Given the description of an element on the screen output the (x, y) to click on. 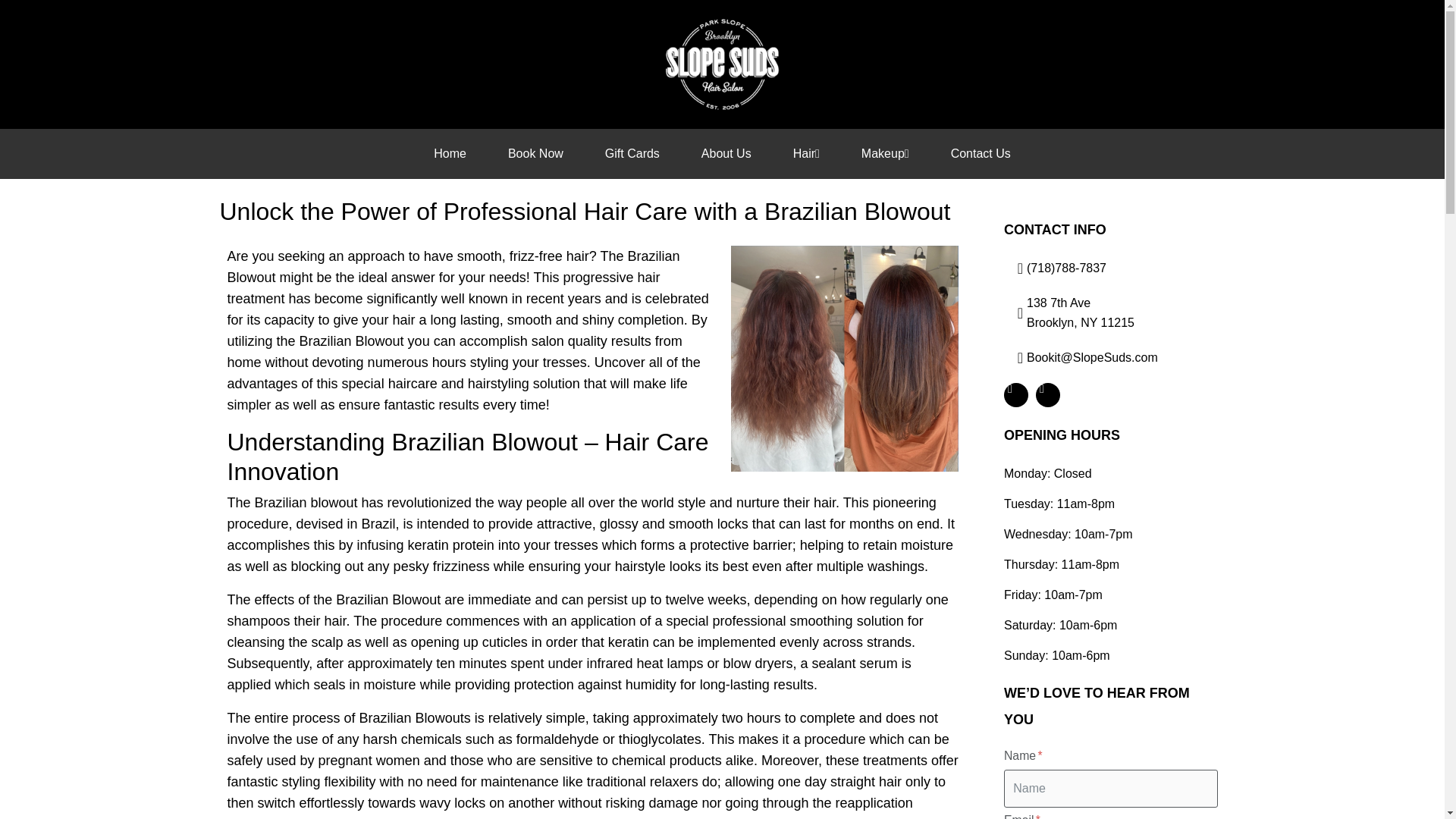
Gift Cards (632, 153)
Book Now (535, 153)
About Us (726, 153)
Hair (805, 153)
Home (450, 153)
